Given the description of an element on the screen output the (x, y) to click on. 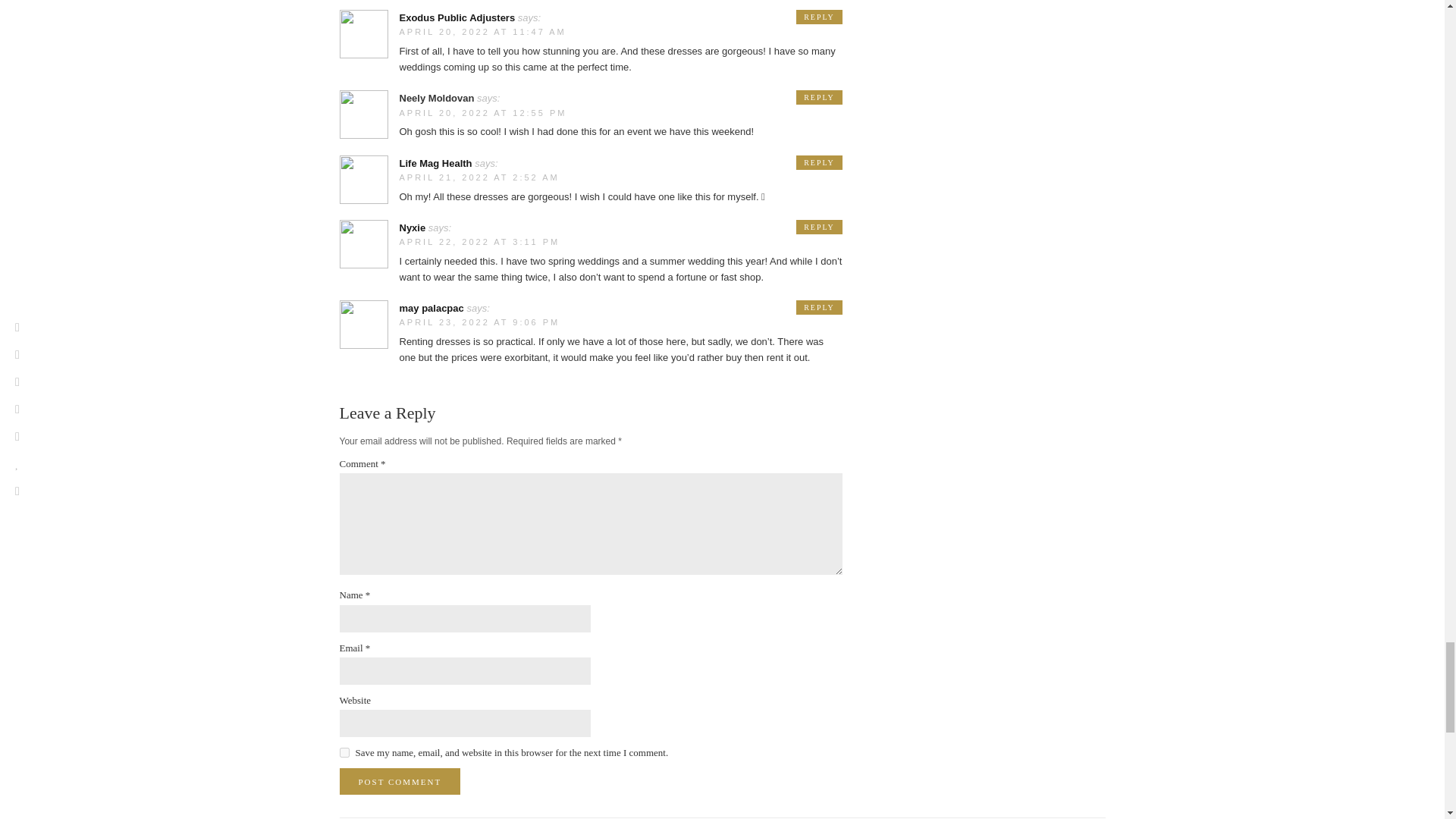
yes (344, 752)
Post Comment (400, 781)
